Given the description of an element on the screen output the (x, y) to click on. 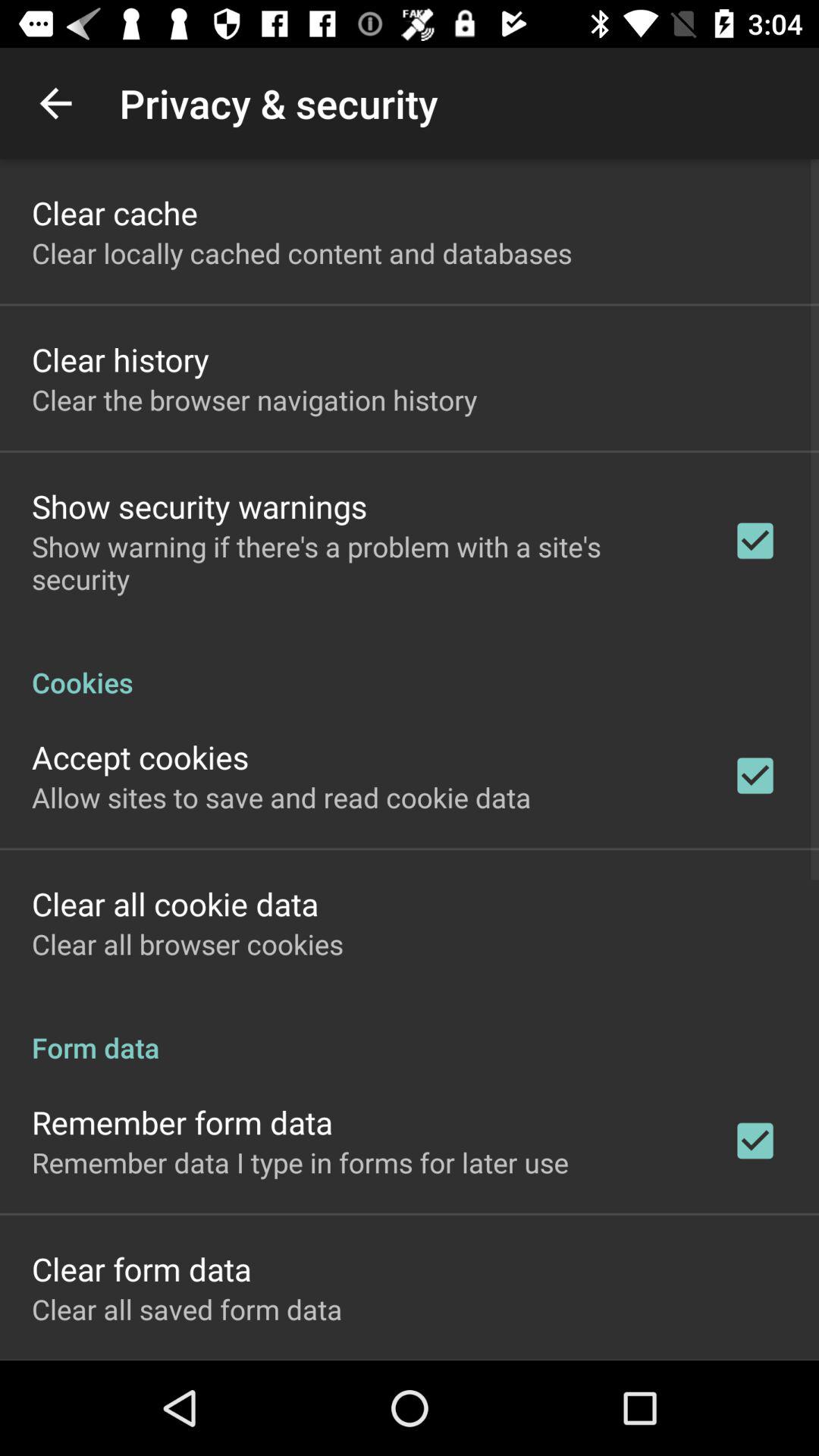
choose the item below cookies (140, 756)
